Given the description of an element on the screen output the (x, y) to click on. 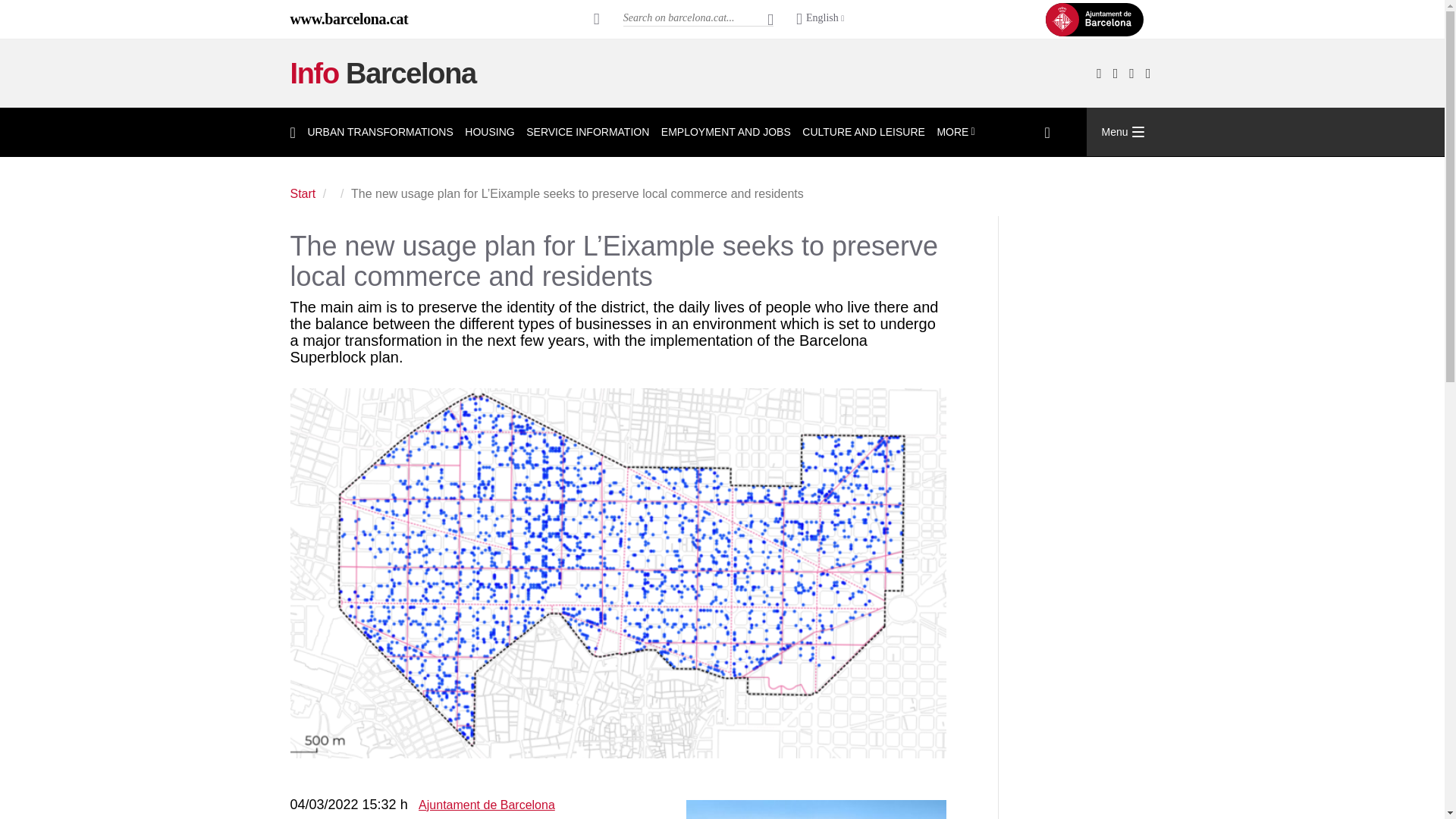
Barcelona (348, 18)
barcelona.cat shortcuts (596, 18)
Start (382, 73)
Change language (820, 18)
